Given the description of an element on the screen output the (x, y) to click on. 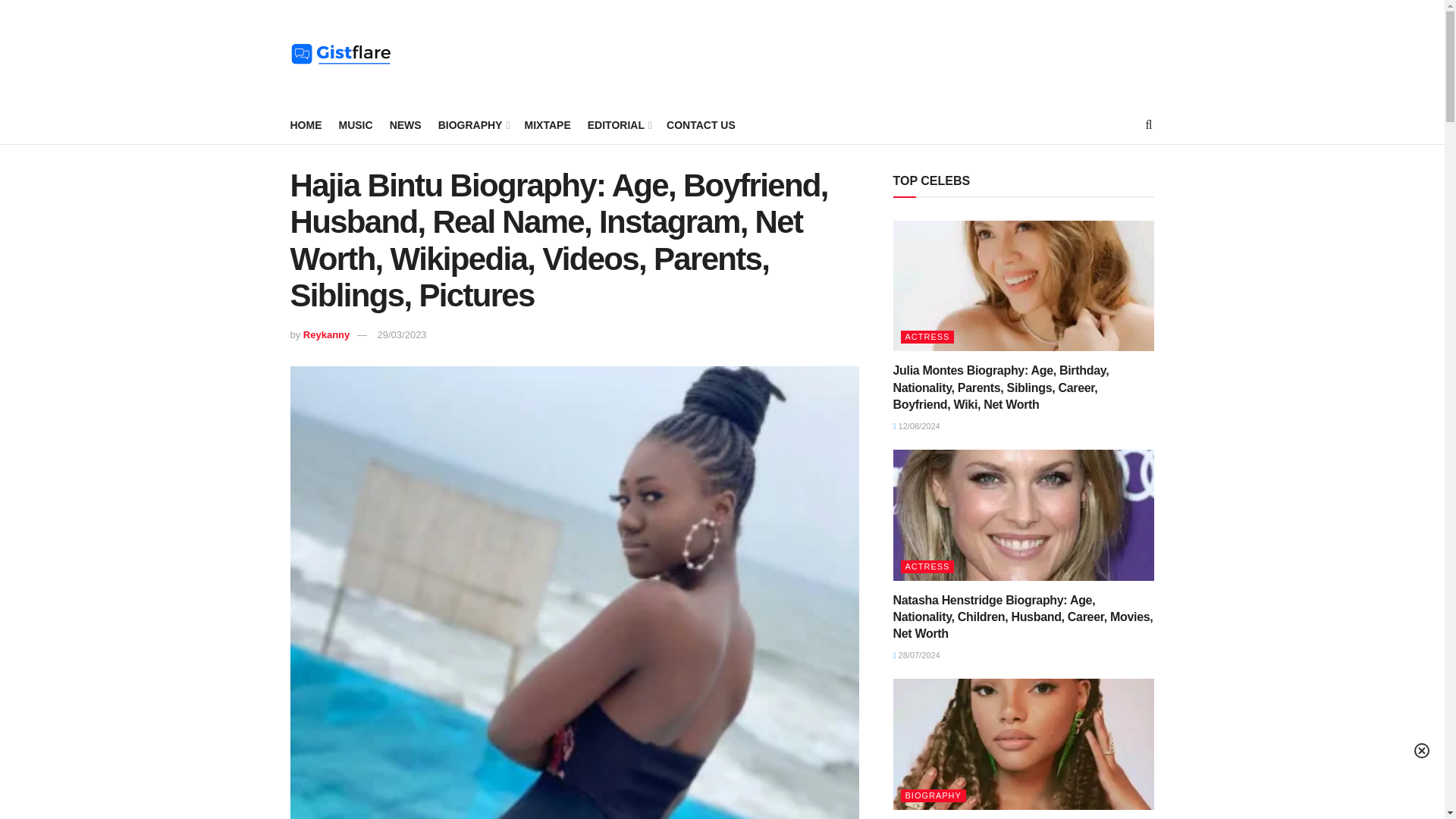
HOME (305, 124)
MIXTAPE (547, 124)
MUSIC (354, 124)
EDITORIAL (618, 124)
NEWS (406, 124)
BIOGRAPHY (473, 124)
CONTACT US (700, 124)
